Given the description of an element on the screen output the (x, y) to click on. 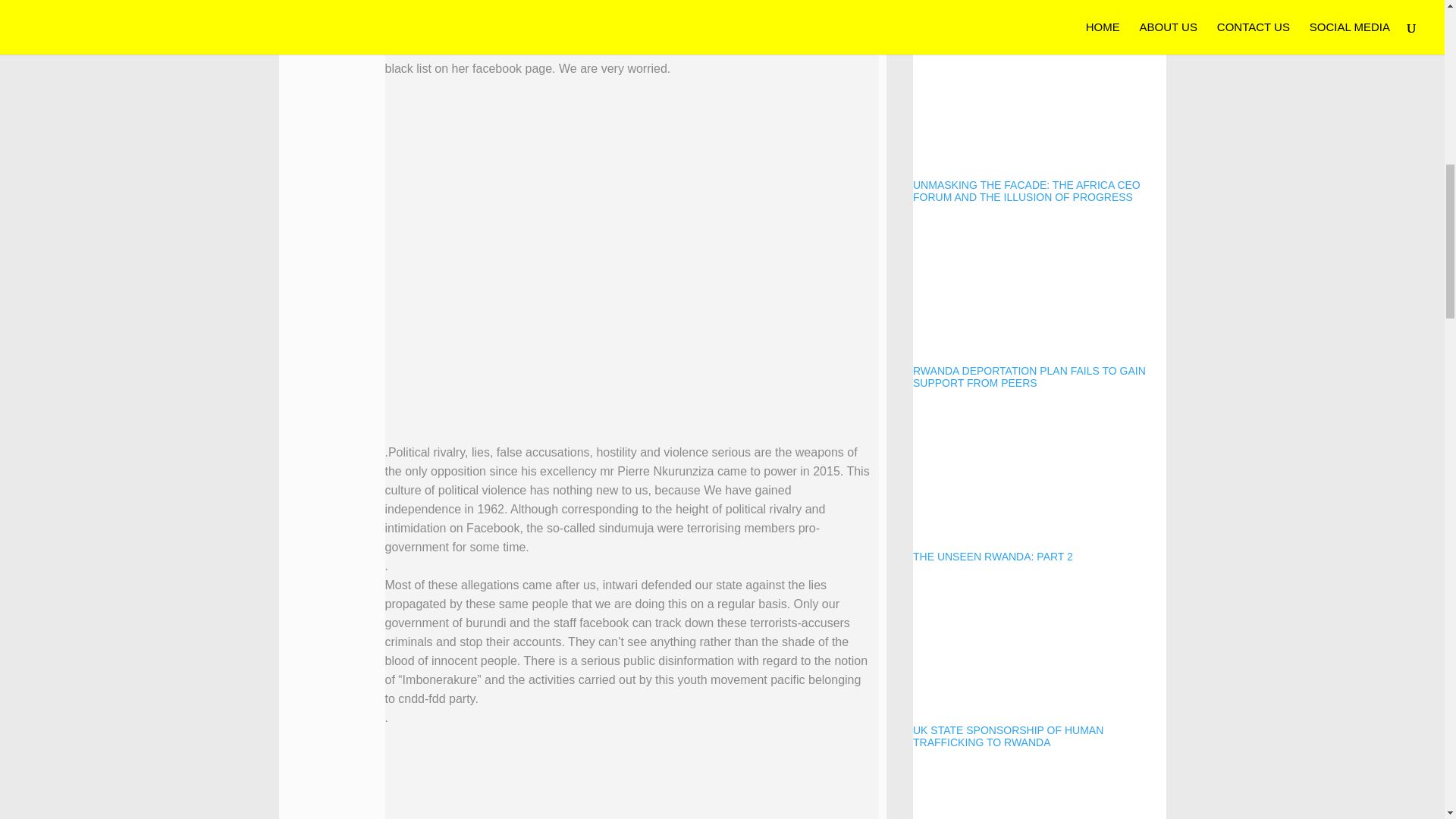
UK STATE SPONSORSHIP OF HUMAN TRAFFICKING TO RWANDA (1039, 664)
RWANDA DEPORTATION PLAN FAILS TO GAIN SUPPORT FROM PEERS (1039, 305)
THE RWANDA THEY NEVER SHOW THE WORLD, PART1 (1039, 793)
THE UNSEEN RWANDA: PART 2 (1039, 484)
